Given the description of an element on the screen output the (x, y) to click on. 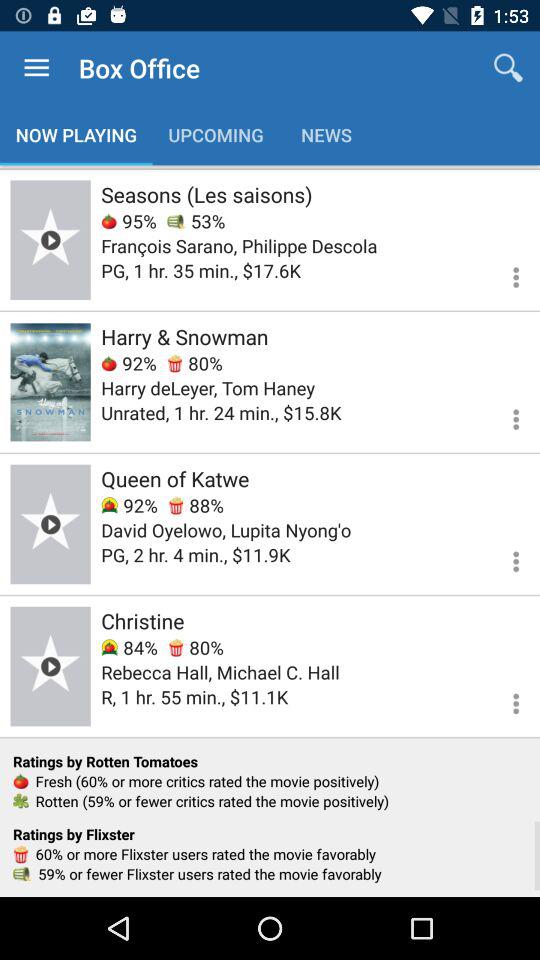
more options (503, 558)
